Given the description of an element on the screen output the (x, y) to click on. 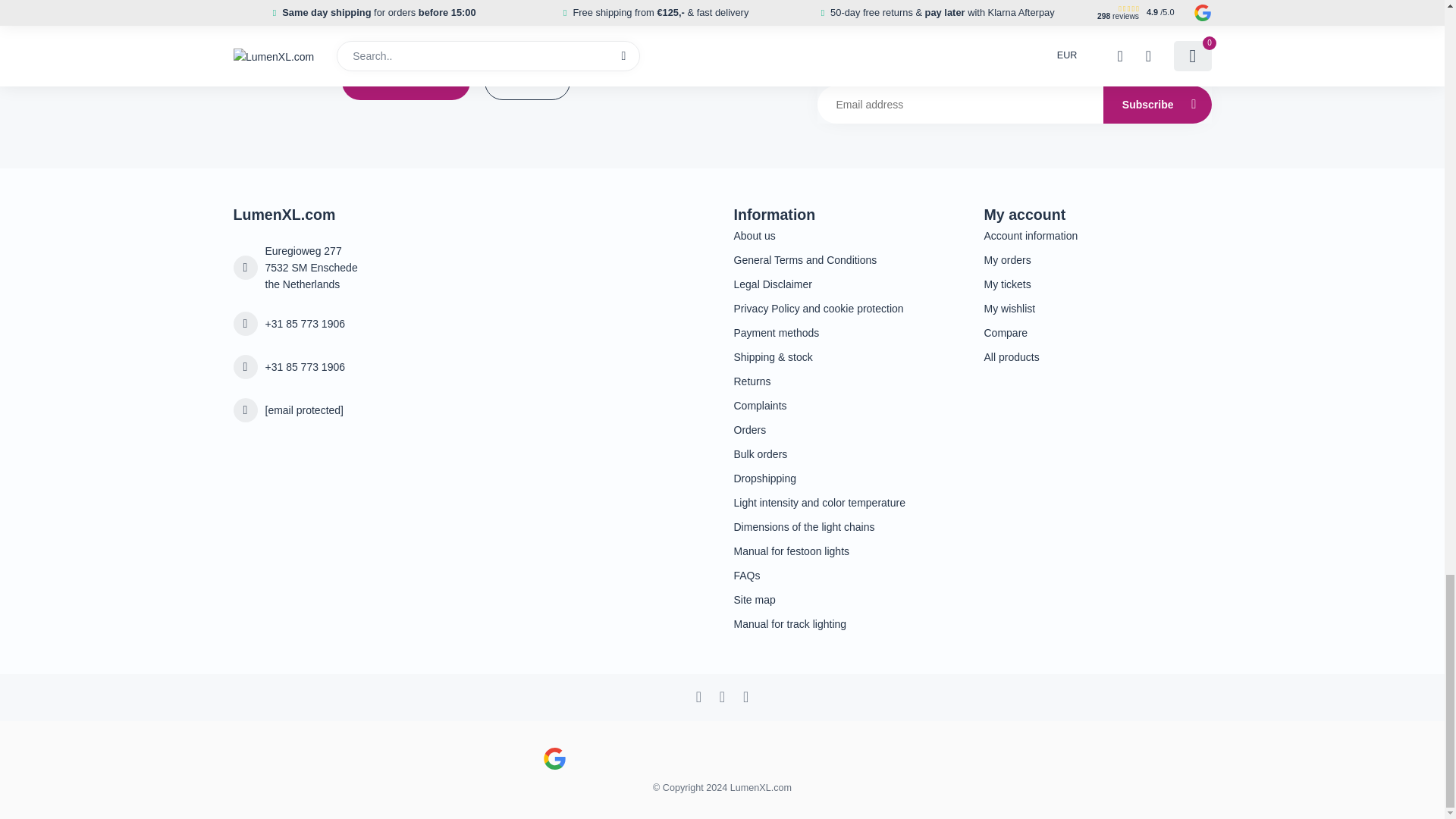
Payment methods (846, 332)
Complaints (846, 405)
Returns (846, 381)
Orders (846, 429)
About us (846, 235)
Privacy Policy and cookie protection (846, 308)
Bulk orders (846, 454)
General Terms and Conditions (846, 259)
Legal Disclaimer (846, 283)
